Given the description of an element on the screen output the (x, y) to click on. 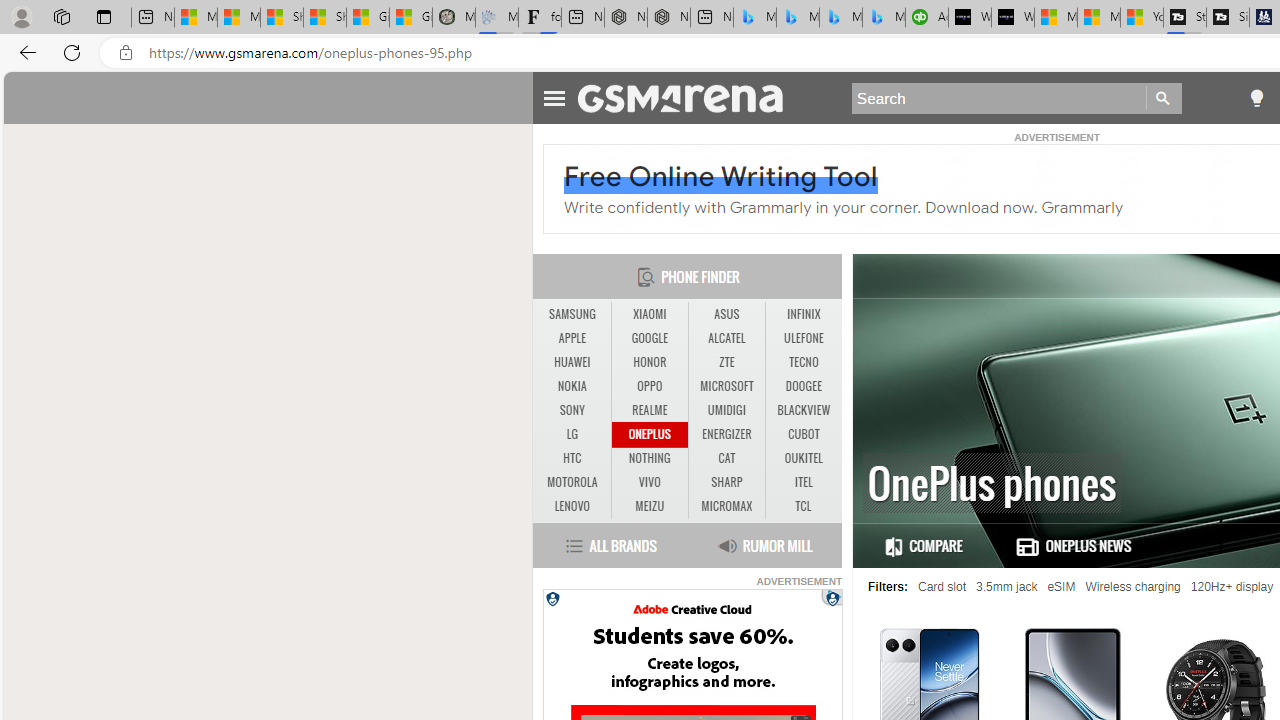
ALCATEL (726, 338)
Class: qc-adchoices-link top-right  (832, 596)
GOOGLE (649, 338)
Go (1163, 97)
120Hz+ display (1231, 587)
OPPO (649, 386)
UMIDIGI (726, 410)
HONOR (649, 362)
GOOGLE (649, 339)
BLACKVIEW (803, 410)
HUAWEI (571, 362)
INFINIX (803, 314)
